Given the description of an element on the screen output the (x, y) to click on. 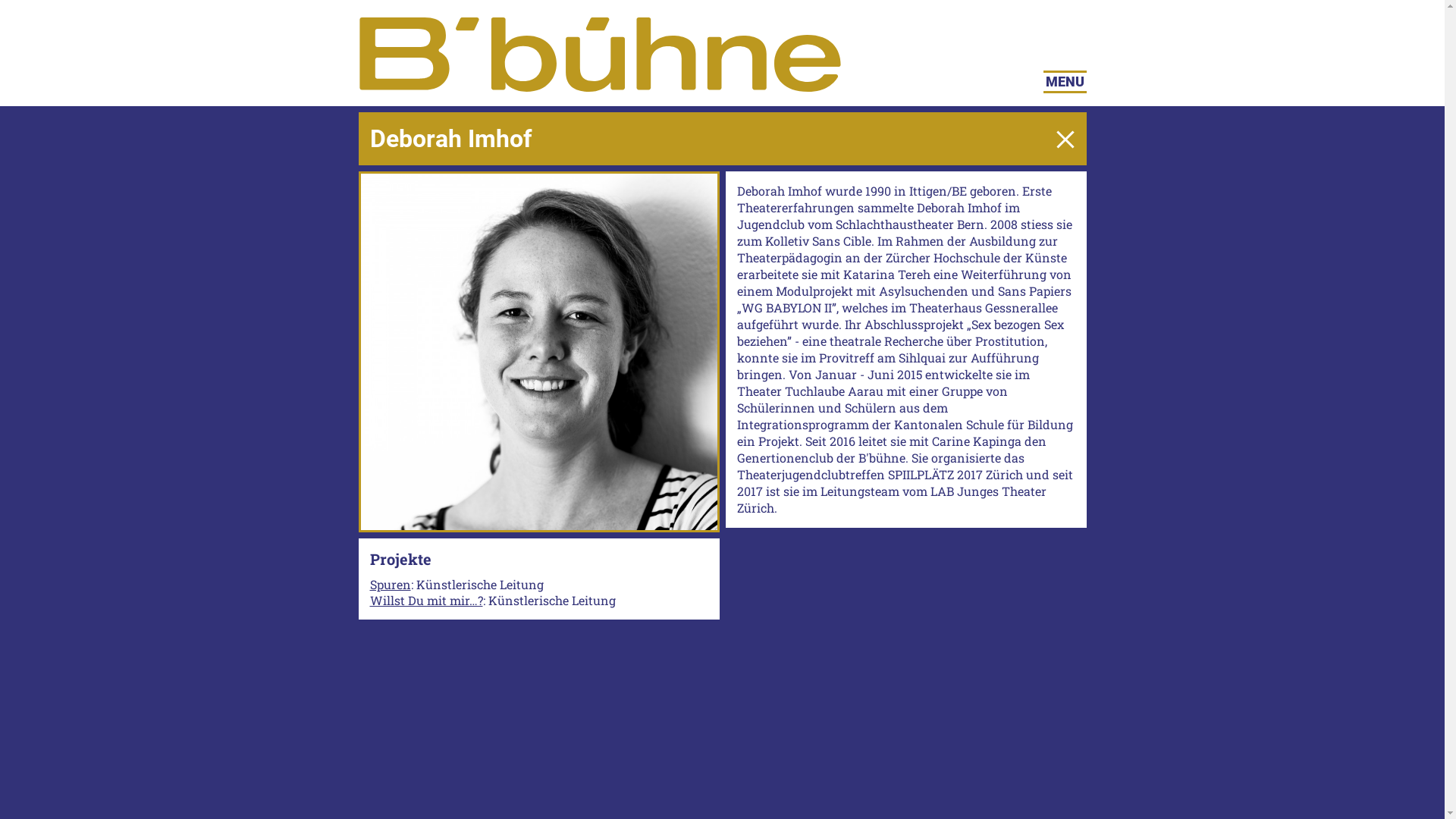
MENU Element type: text (1064, 81)
Spuren Element type: text (390, 584)
theater@b-buehne.ch Element type: text (894, 635)
